Given the description of an element on the screen output the (x, y) to click on. 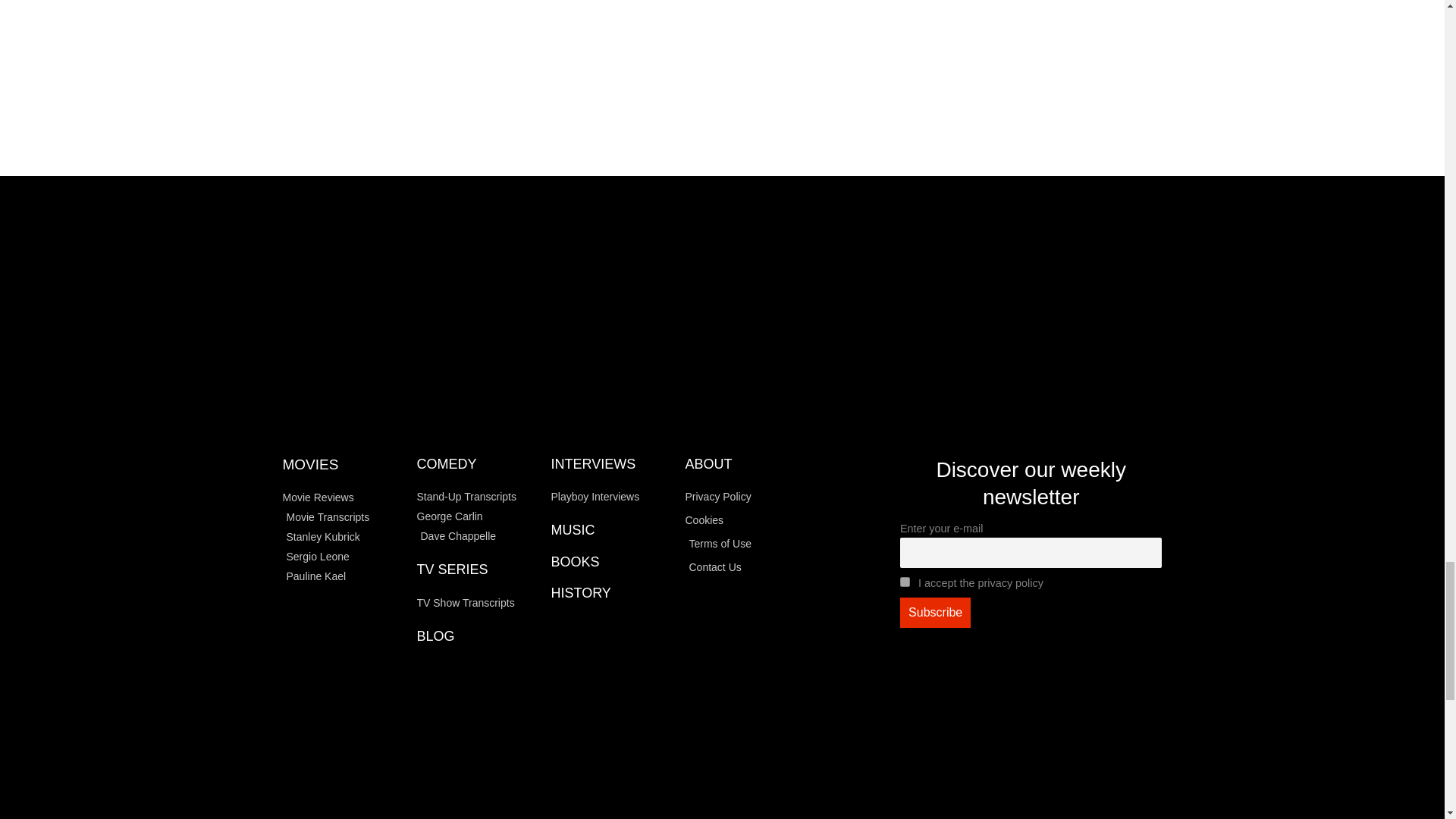
on (904, 582)
Subscribe (935, 612)
